Given the description of an element on the screen output the (x, y) to click on. 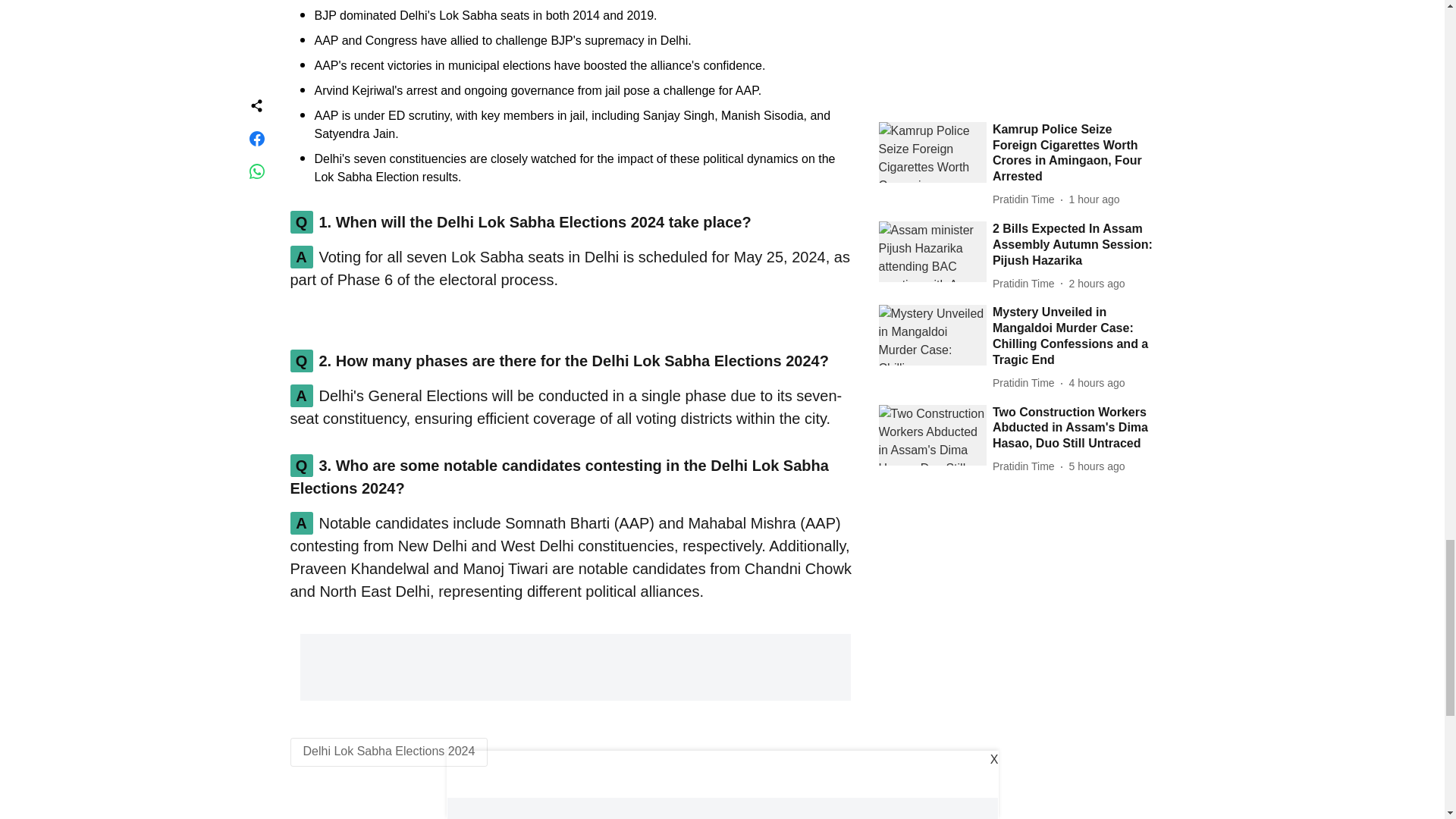
Delhi Lok Sabha Elections 2024 (389, 750)
